Given the description of an element on the screen output the (x, y) to click on. 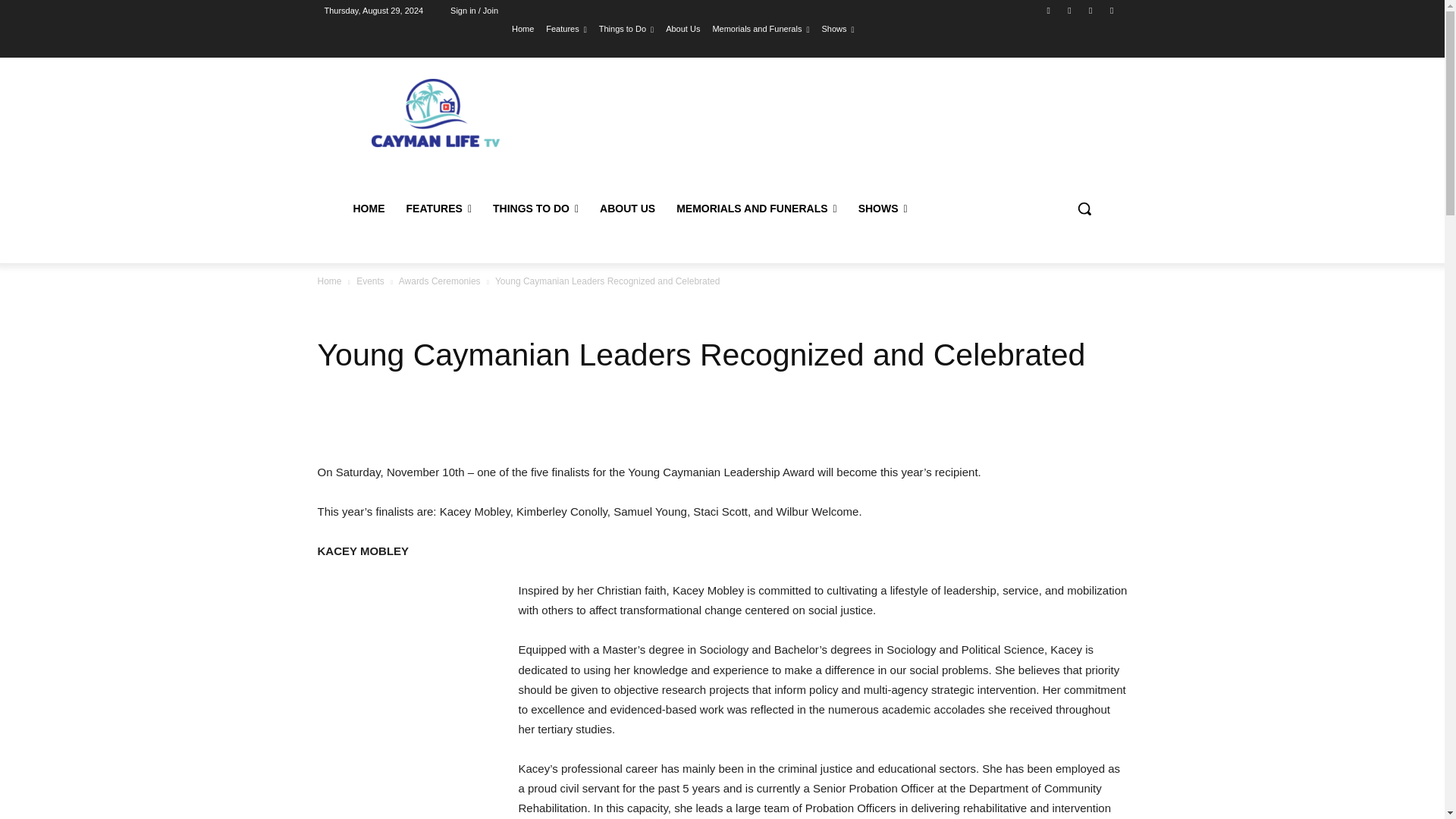
Youtube (1112, 9)
Things to Do (625, 28)
Facebook (1048, 9)
Instagram (1069, 9)
Memorials and Funerals (760, 28)
Home (523, 28)
View all posts in Events (370, 281)
Features (566, 28)
Twitter (1090, 9)
About Us (682, 28)
